Given the description of an element on the screen output the (x, y) to click on. 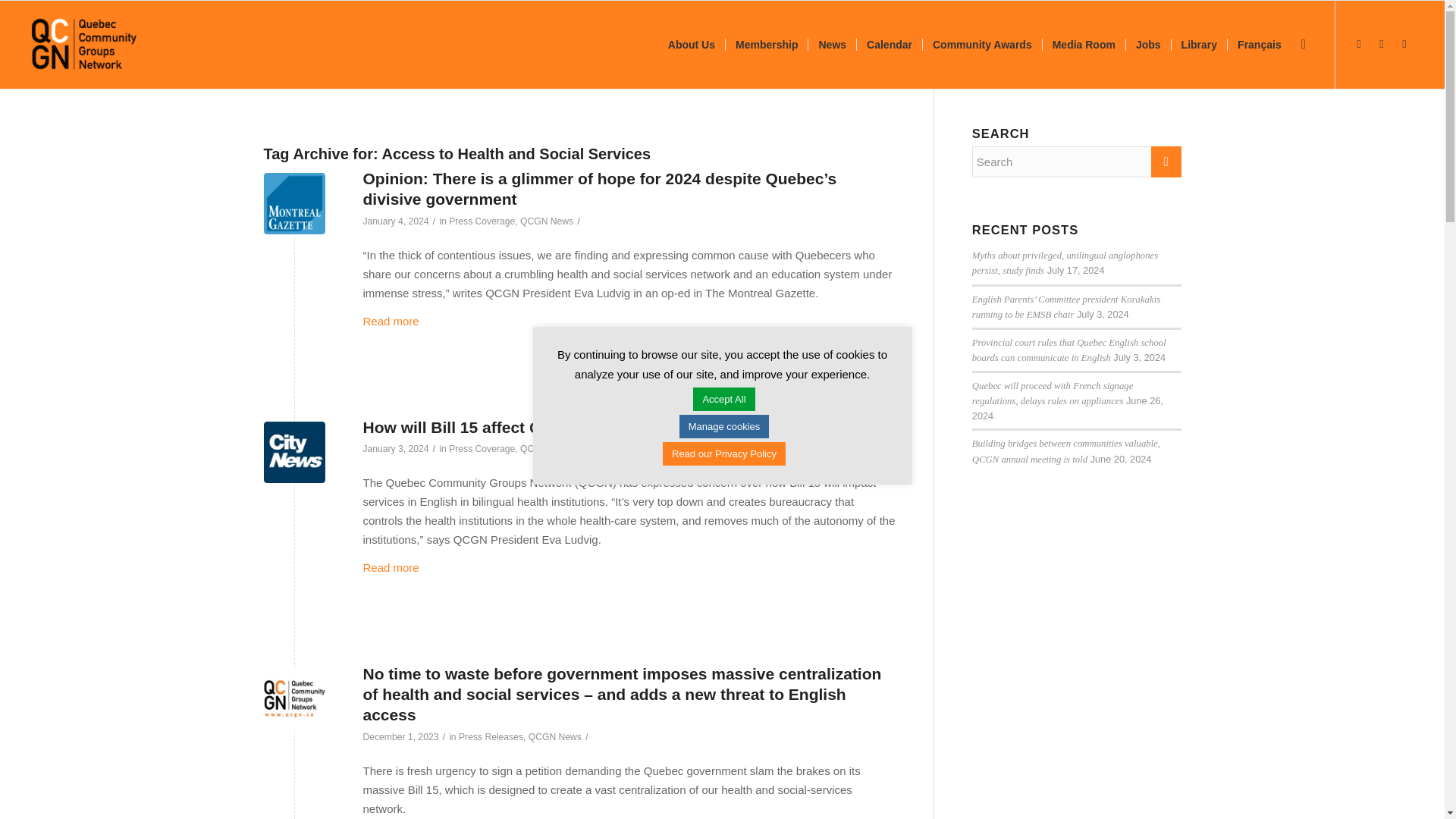
Press Coverage (481, 221)
Media Room (1083, 44)
Read more (390, 320)
Membership (766, 44)
QCGN News (546, 221)
Facebook (1359, 43)
qcgn-pan-trans-white (84, 44)
Twitter (1381, 43)
How will Bill 15 affect Quebec patients in 2024? (541, 426)
CITYNEWS (293, 452)
Community Awards (981, 44)
Youtube (1404, 43)
Montreal Gazette Logo (293, 203)
